Given the description of an element on the screen output the (x, y) to click on. 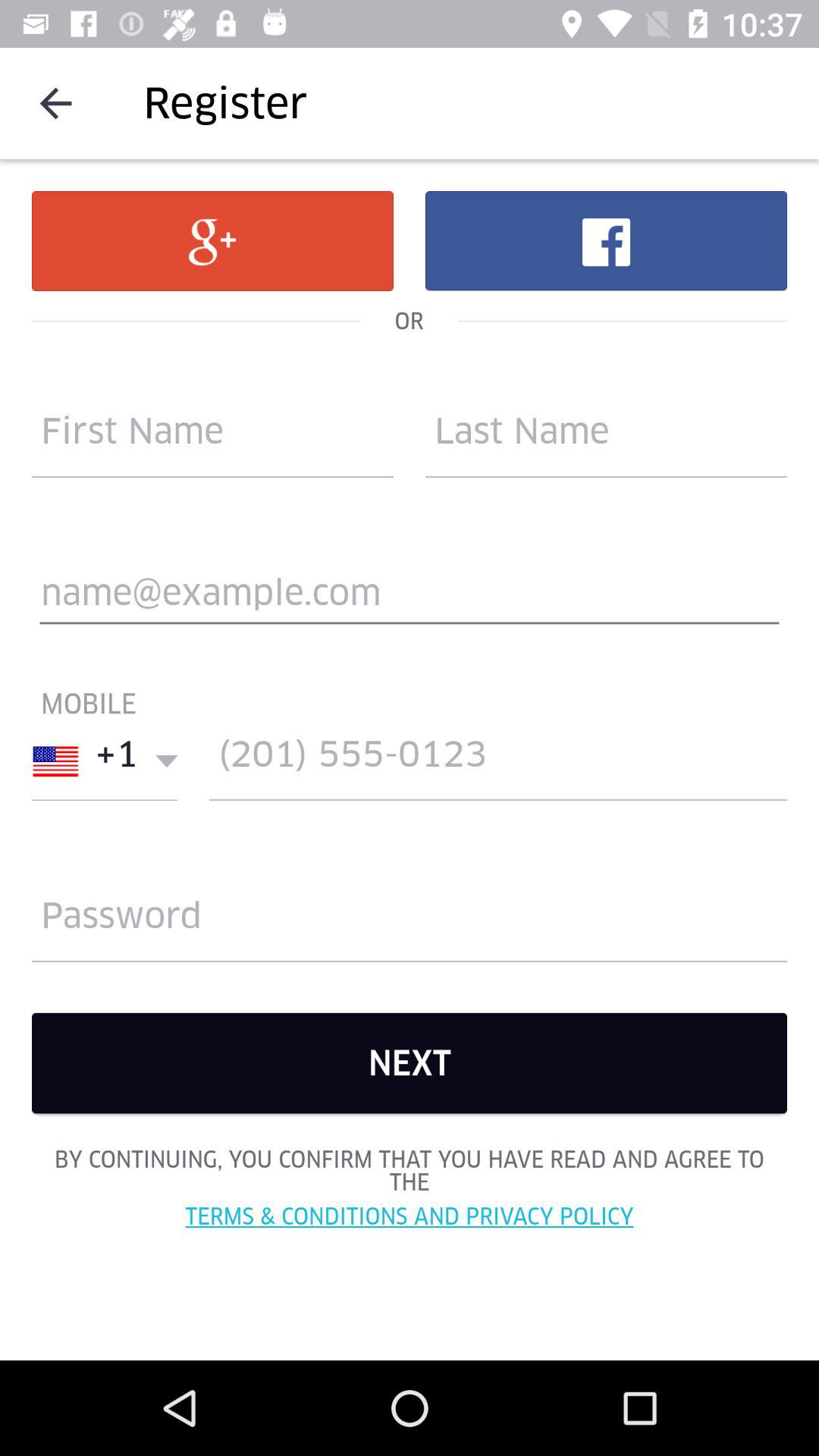
enter first name (212, 438)
